Given the description of an element on the screen output the (x, y) to click on. 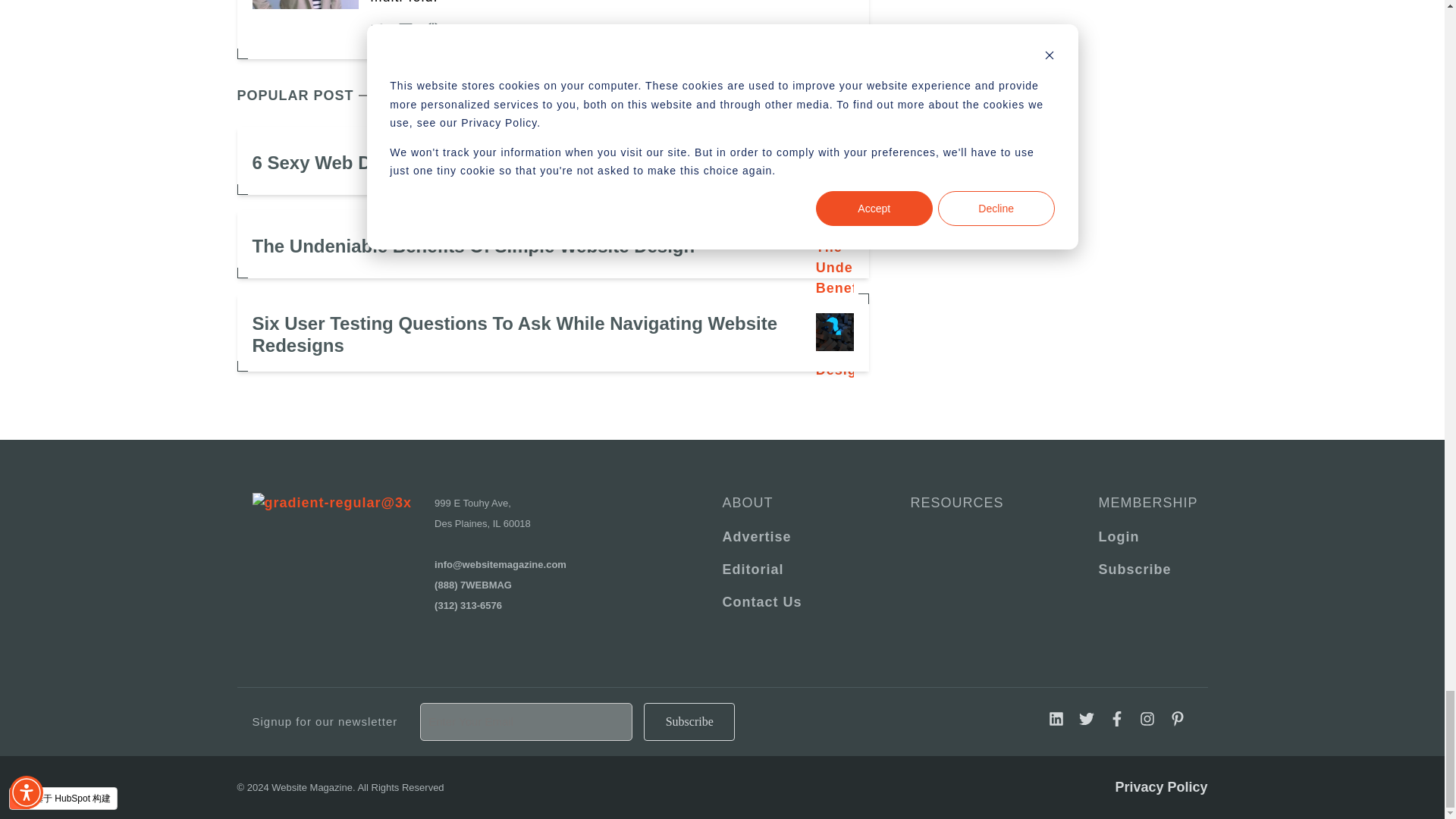
Subscribe (689, 721)
